Given the description of an element on the screen output the (x, y) to click on. 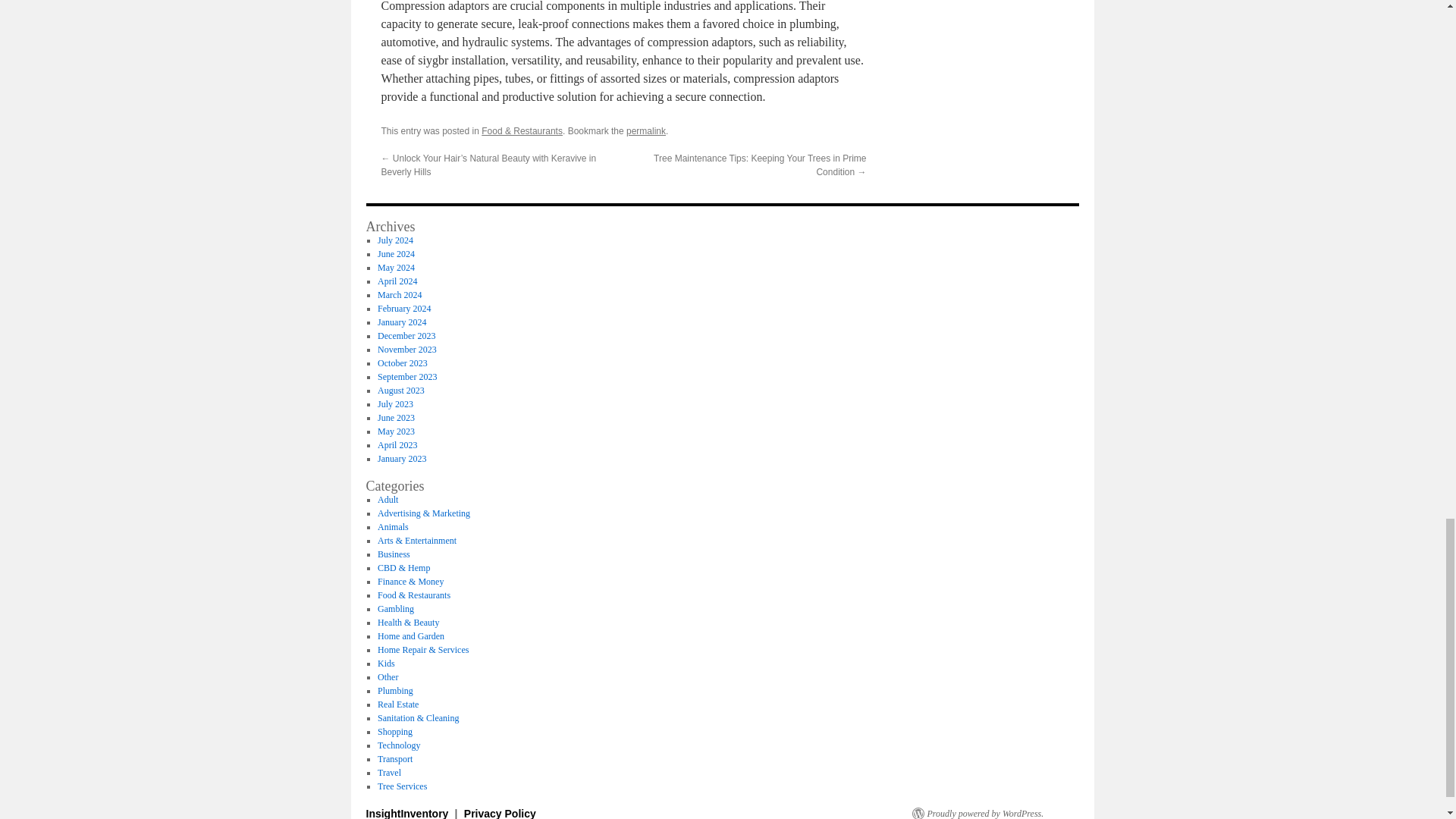
April 2024 (396, 281)
Animals (393, 526)
January 2024 (401, 321)
July 2024 (395, 240)
October 2023 (402, 362)
January 2023 (401, 458)
February 2024 (403, 308)
June 2023 (395, 417)
May 2023 (395, 430)
permalink (645, 131)
March 2024 (399, 294)
September 2023 (406, 376)
May 2024 (395, 267)
November 2023 (406, 348)
April 2023 (396, 444)
